Given the description of an element on the screen output the (x, y) to click on. 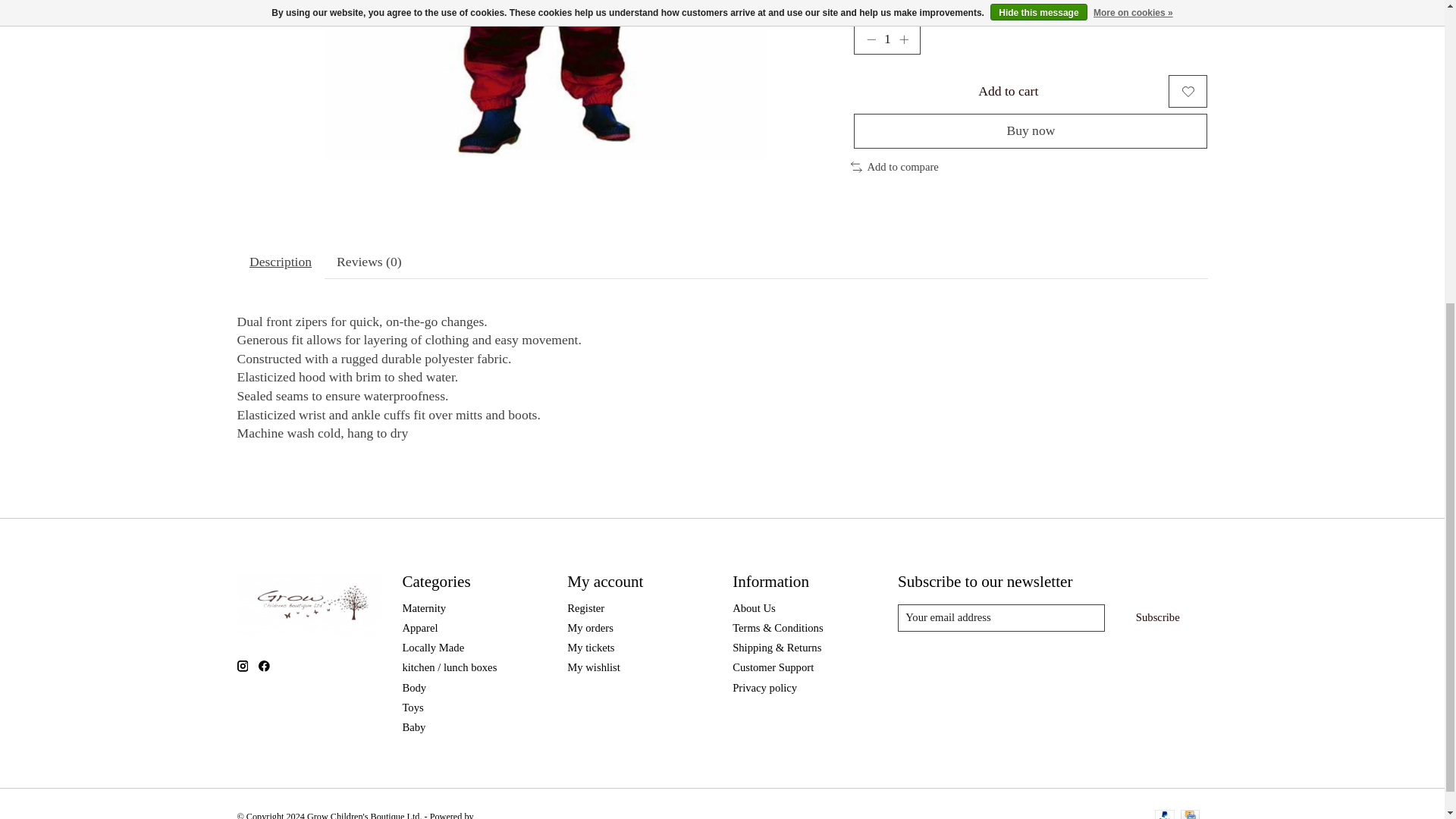
My orders (589, 627)
My wishlist (593, 666)
1 (886, 39)
About Us (754, 607)
Customer Support (772, 666)
Privacy policy (764, 687)
My tickets (590, 647)
Register (585, 607)
